Given the description of an element on the screen output the (x, y) to click on. 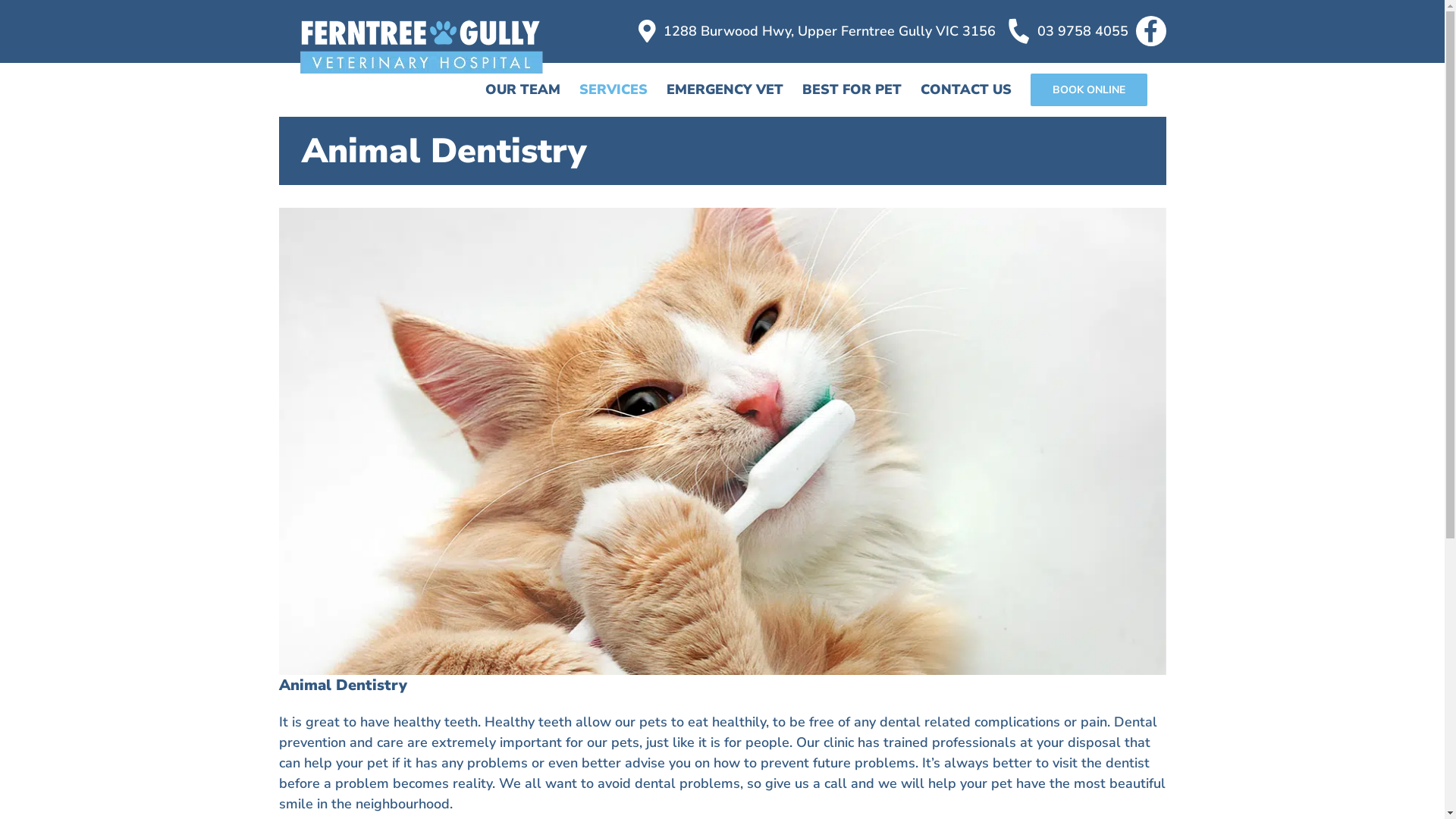
EMERGENCY VET Element type: text (723, 89)
1288 Burwood Hwy, Upper Ferntree Gully VIC 3156 Element type: text (813, 30)
03 9758 4055 Element type: text (1067, 30)
SERVICES Element type: text (613, 89)
OUR TEAM Element type: text (522, 89)
BEST FOR PET Element type: text (851, 89)
CONTACT US Element type: text (965, 89)
View Larger Image Element type: text (722, 440)
BOOK ONLINE Element type: text (1087, 89)
